Given the description of an element on the screen output the (x, y) to click on. 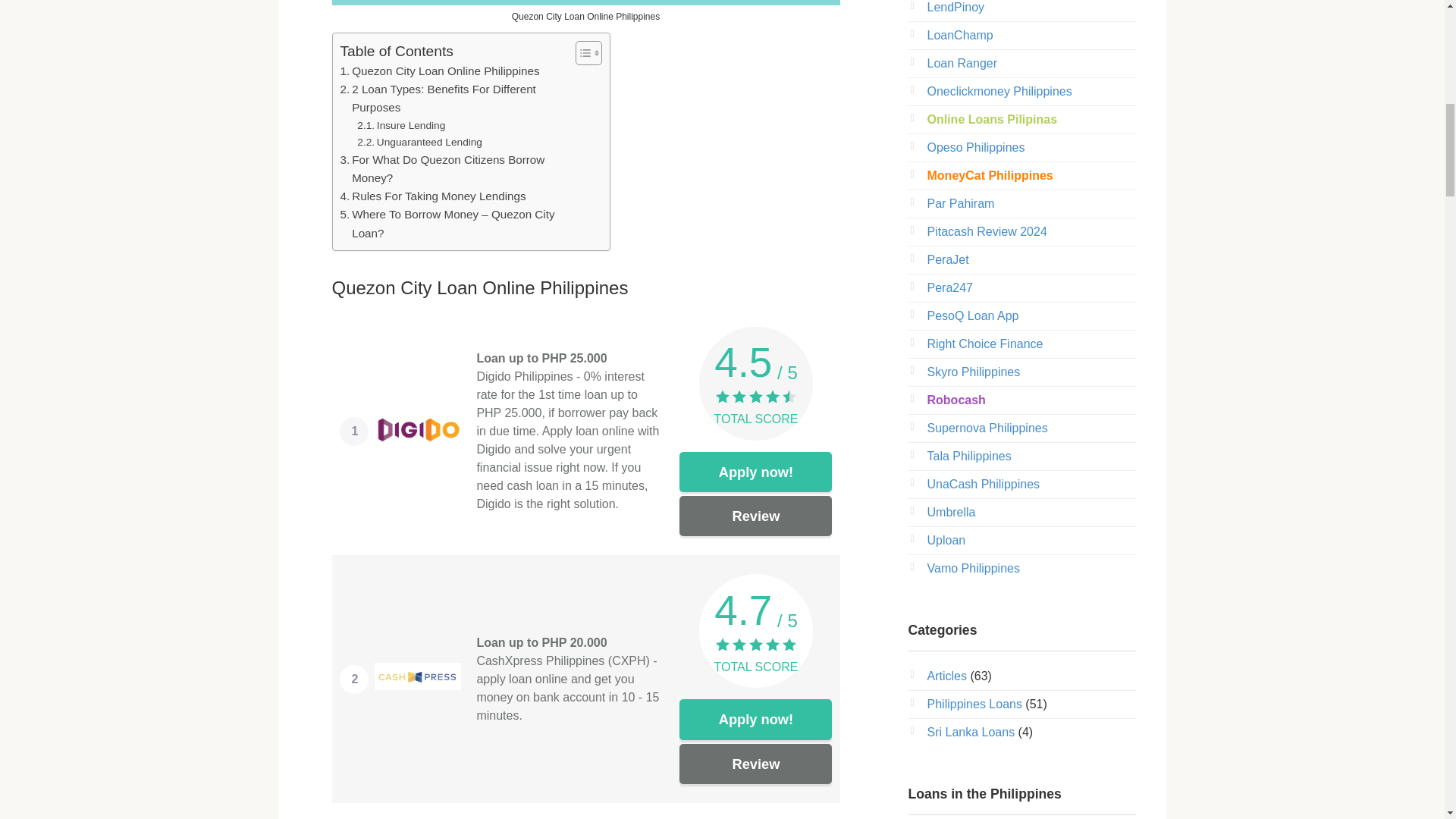
Insure Lending (400, 125)
Quezon City Loan Online Philippines (438, 71)
Unguaranteed Lending (418, 142)
